Given the description of an element on the screen output the (x, y) to click on. 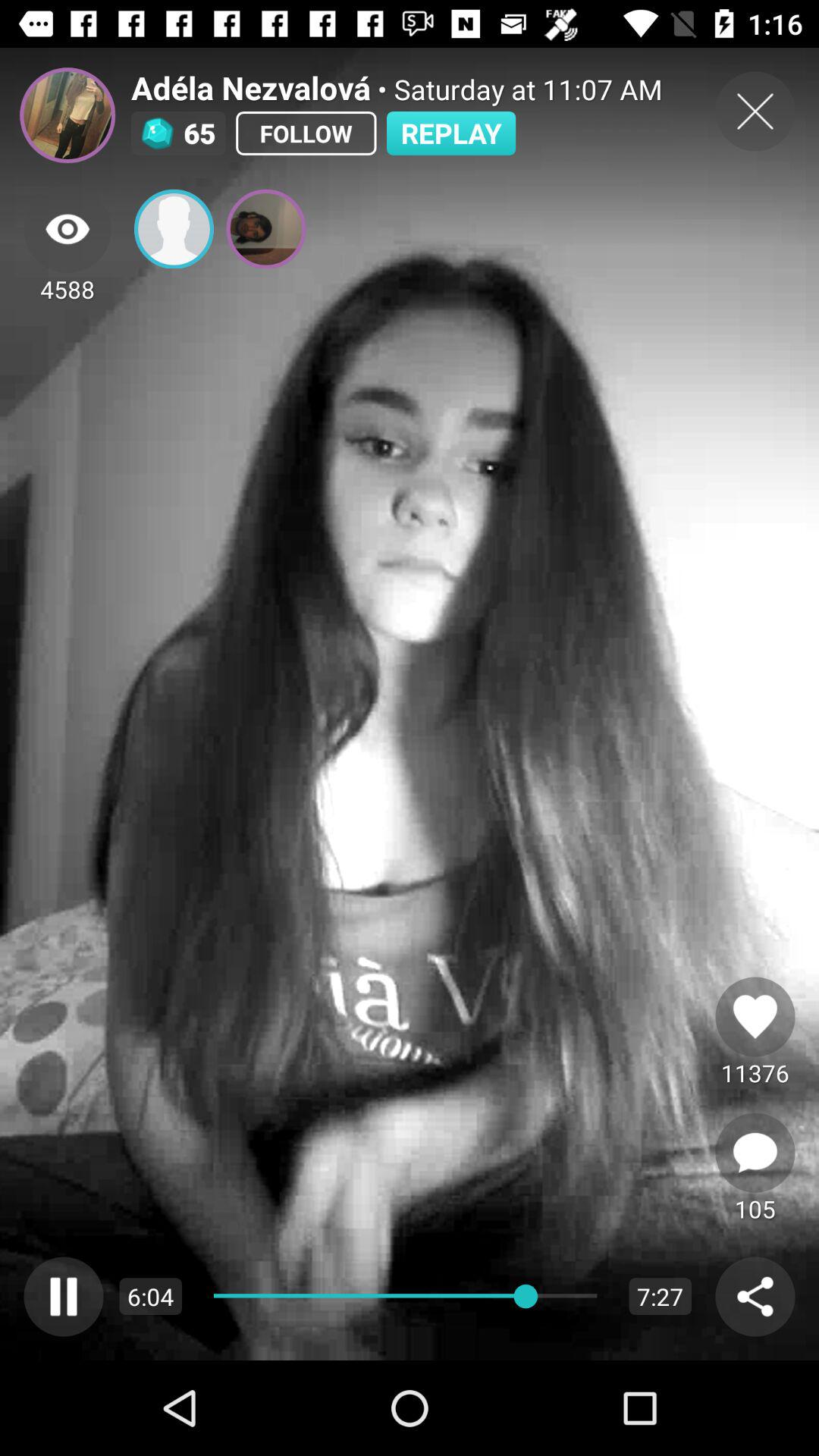
close current image (755, 111)
